Given the description of an element on the screen output the (x, y) to click on. 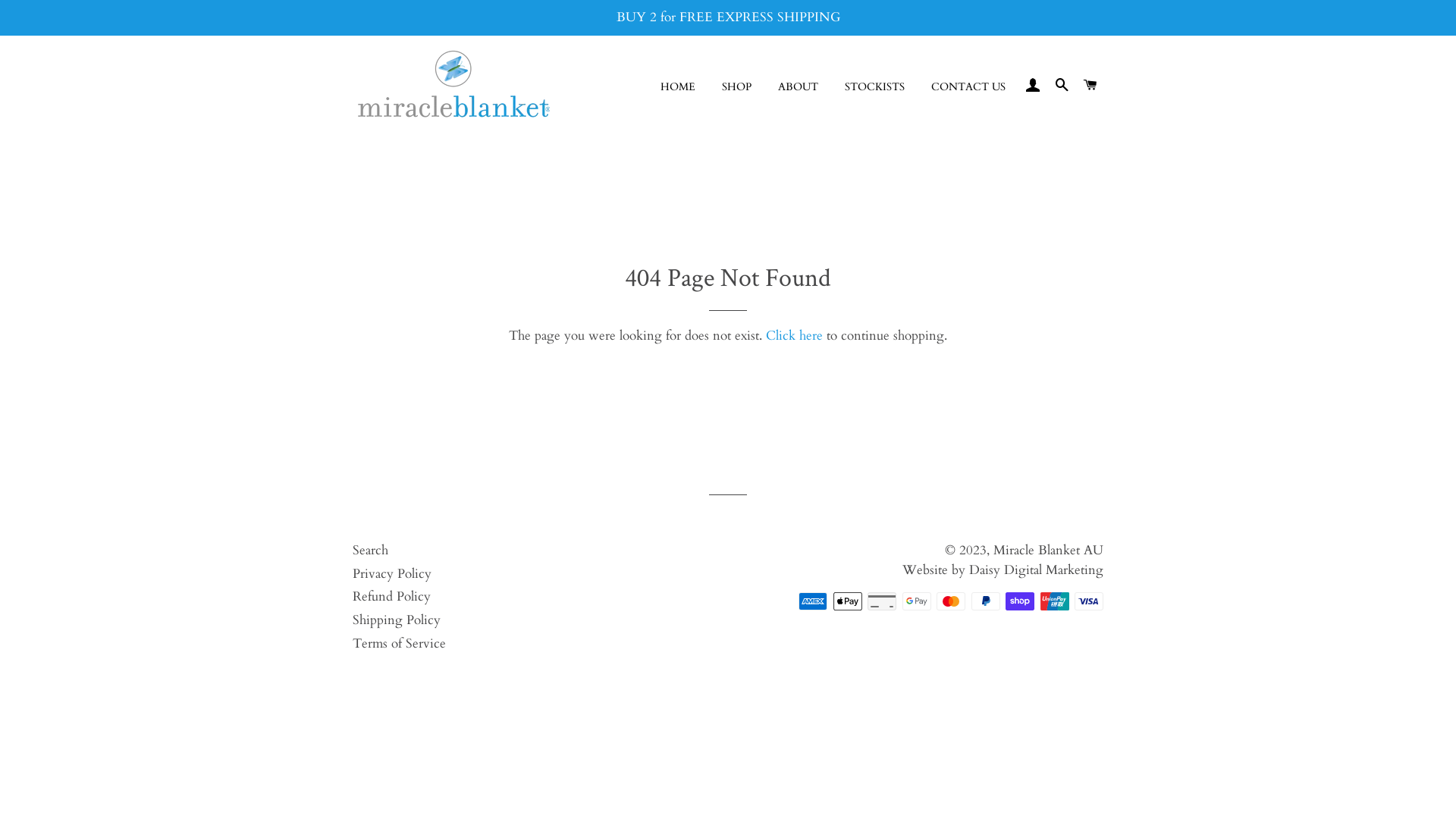
Search Element type: text (370, 549)
Refund Policy Element type: text (391, 596)
LOG IN Element type: text (1032, 86)
Website by Daisy Digital Marketing Element type: text (1002, 569)
Privacy Policy Element type: text (391, 573)
STOCKISTS Element type: text (874, 86)
Terms of Service Element type: text (398, 643)
ABOUT Element type: text (797, 86)
CART Element type: text (1090, 86)
HOME Element type: text (677, 86)
Miracle Blanket AU Element type: text (1048, 549)
Click here Element type: text (793, 335)
SHOP Element type: text (736, 86)
CONTACT US Element type: text (967, 86)
SEARCH Element type: text (1061, 86)
Shipping Policy Element type: text (396, 619)
